Given the description of an element on the screen output the (x, y) to click on. 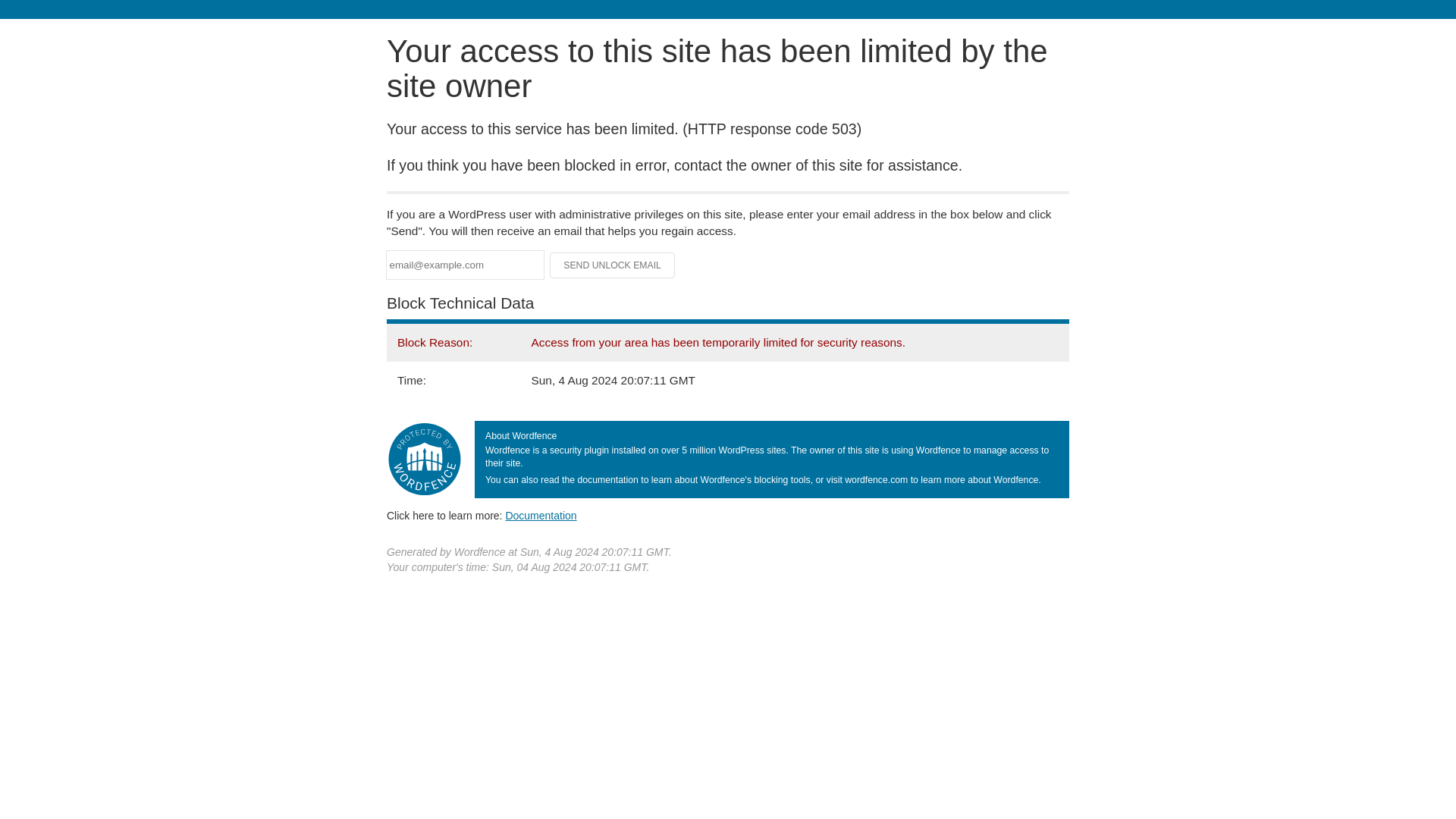
Send Unlock Email (612, 265)
Send Unlock Email (612, 265)
Documentation (540, 515)
